Given the description of an element on the screen output the (x, y) to click on. 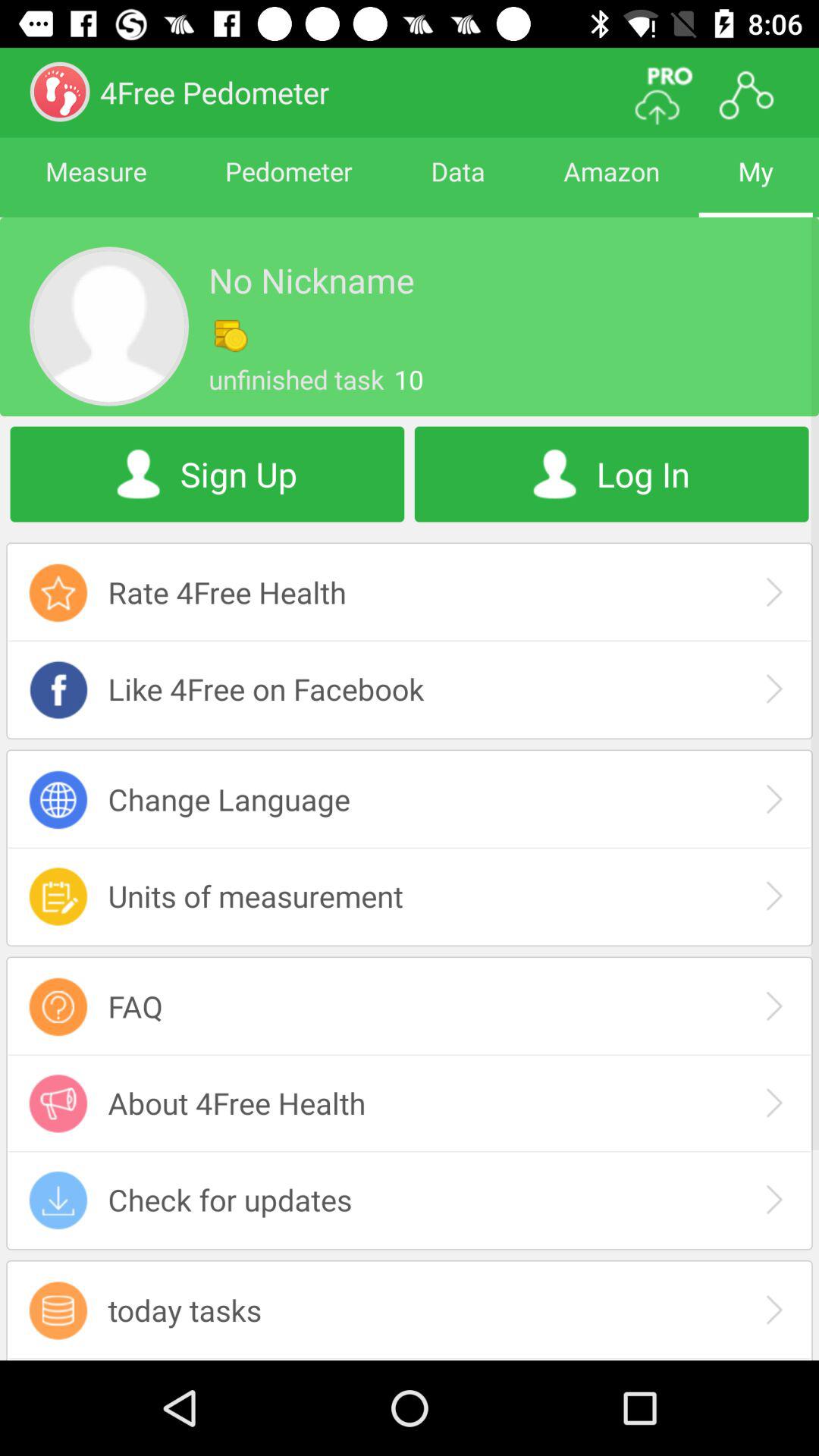
jump until recovery of historical item (409, 1359)
